Given the description of an element on the screen output the (x, y) to click on. 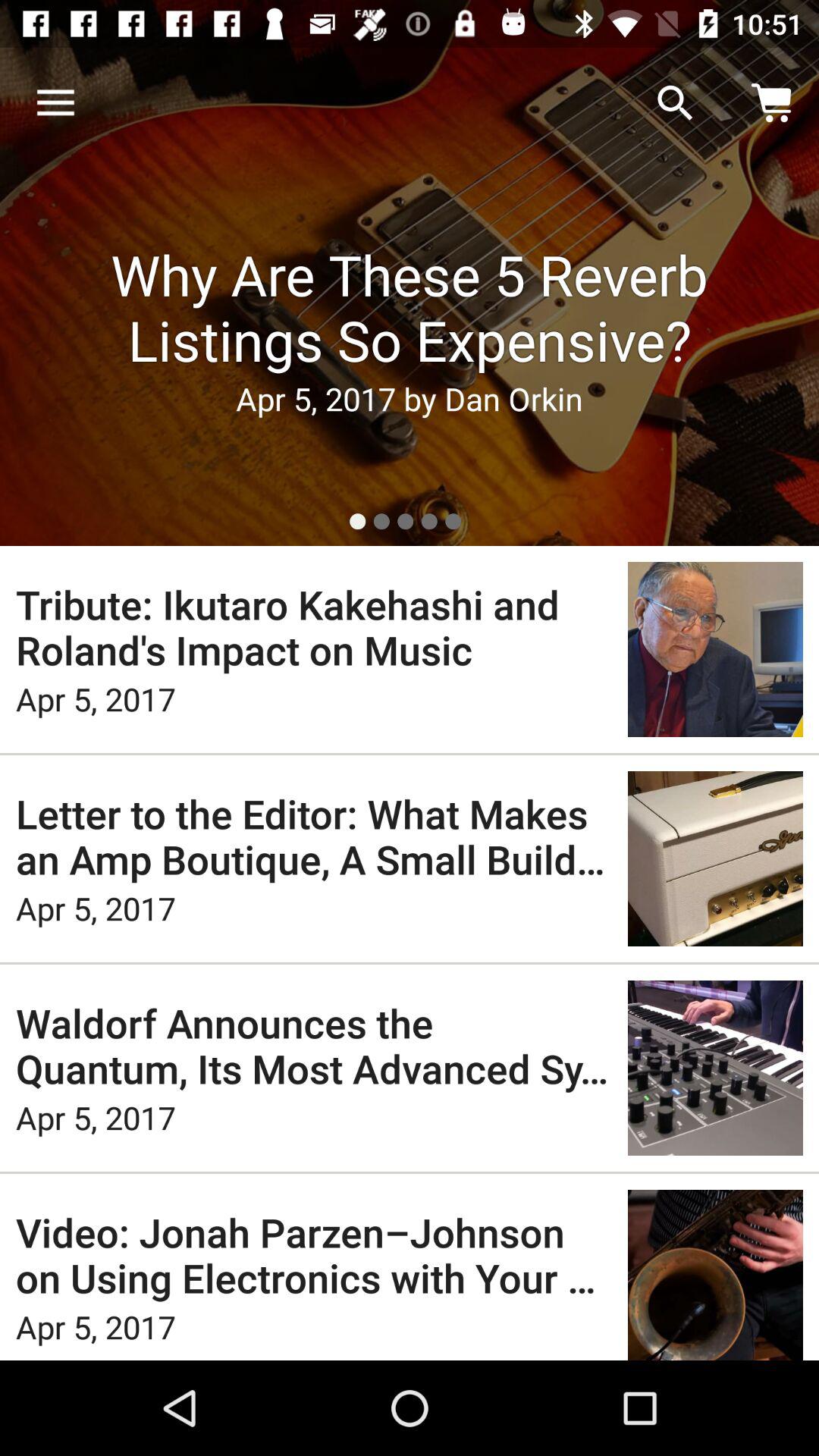
choose icon above why are these icon (55, 103)
